Given the description of an element on the screen output the (x, y) to click on. 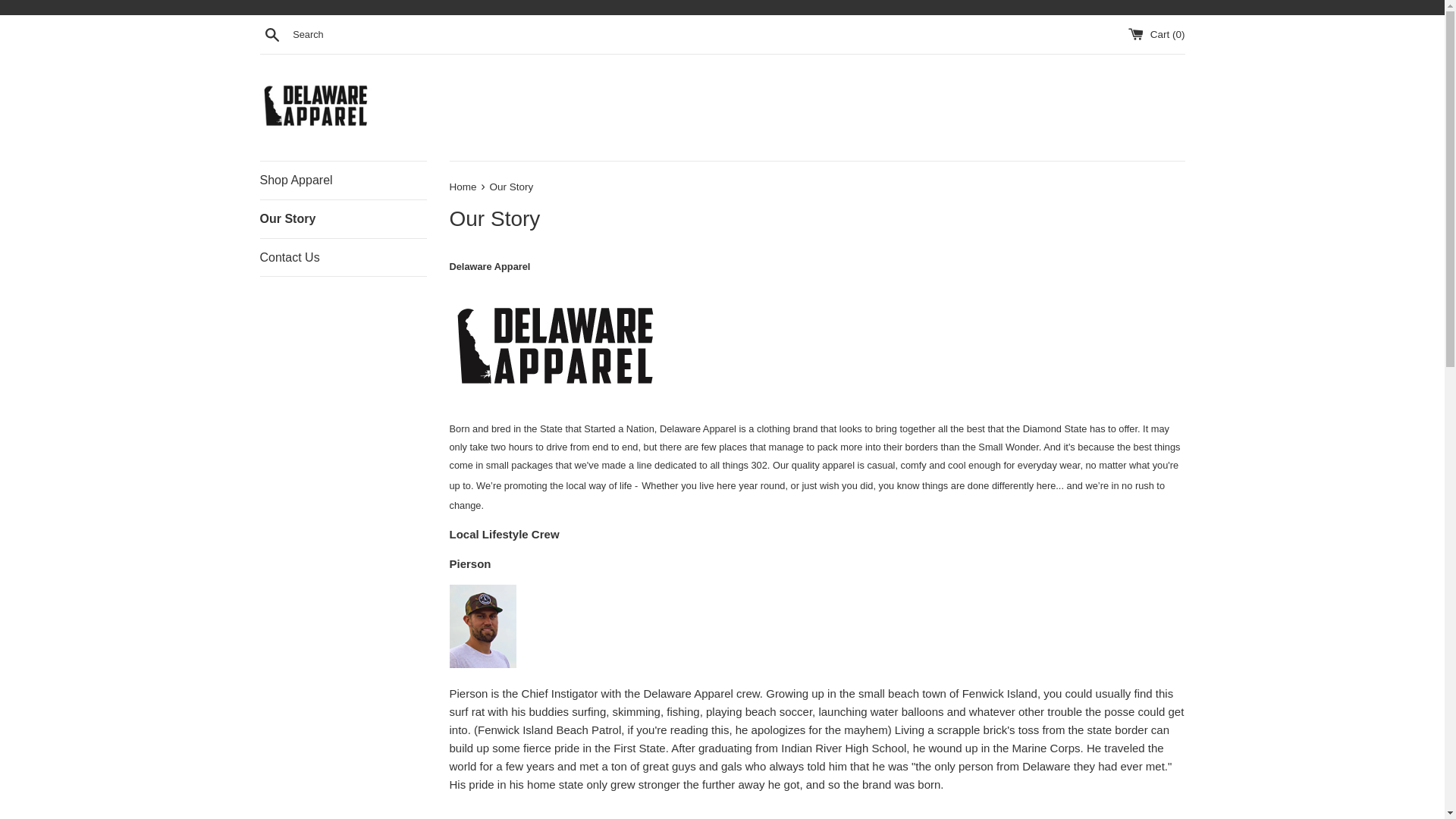
Contact Us (342, 257)
Back to the frontpage (463, 186)
Search (271, 34)
Shop Apparel (342, 180)
Home (463, 186)
Our Story (342, 218)
